Given the description of an element on the screen output the (x, y) to click on. 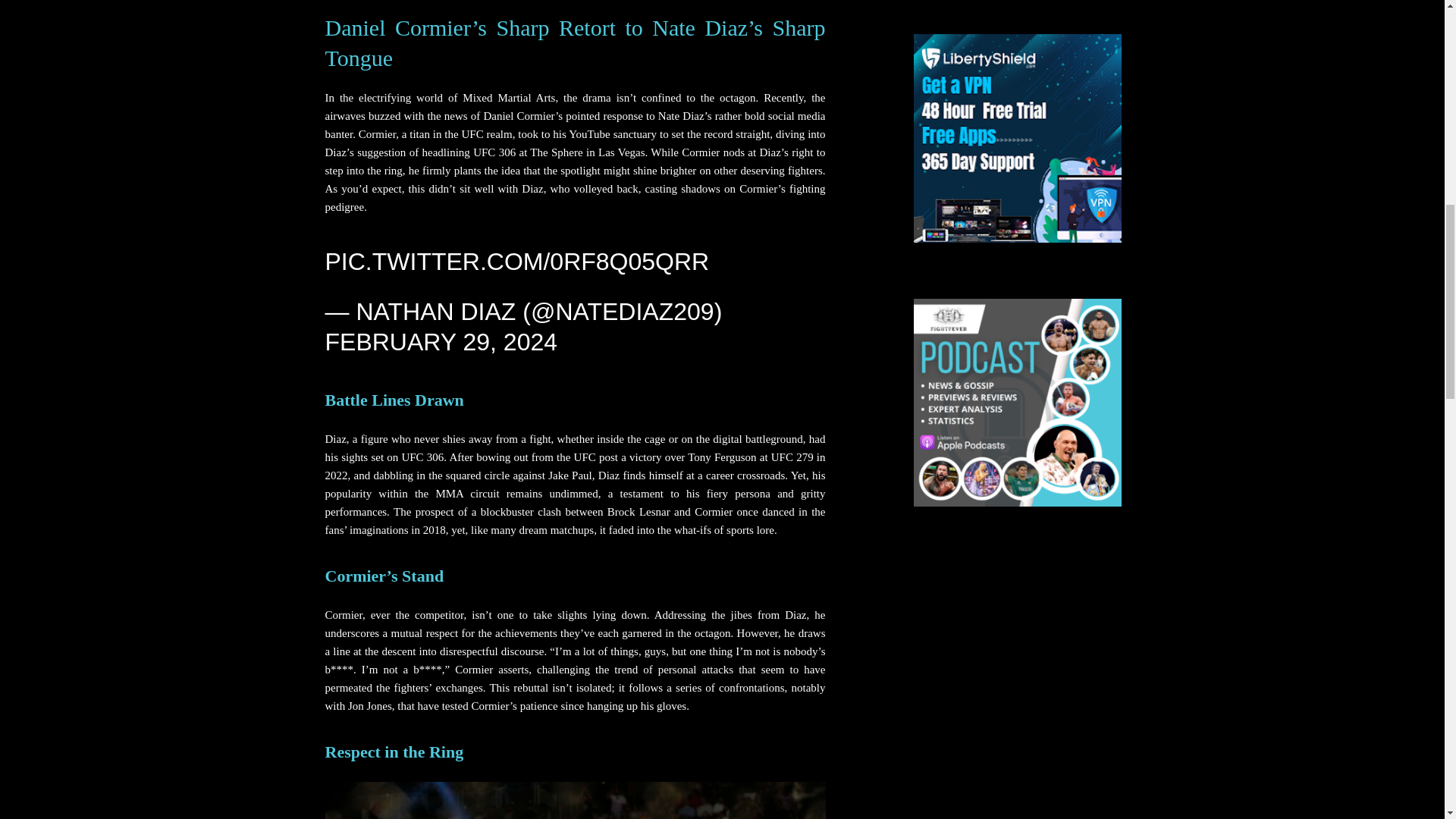
FEBRUARY 29, 2024 (440, 341)
